Given the description of an element on the screen output the (x, y) to click on. 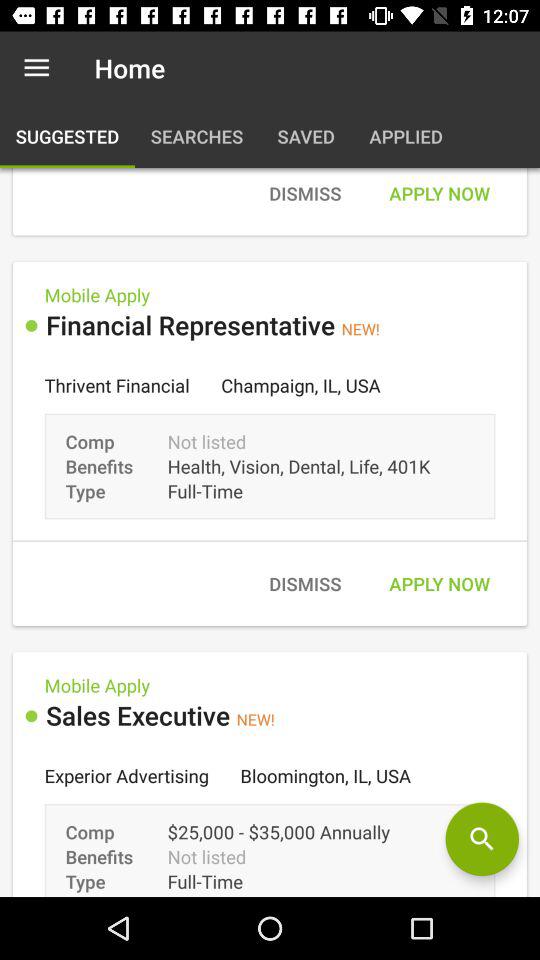
switch to search (482, 839)
